Given the description of an element on the screen output the (x, y) to click on. 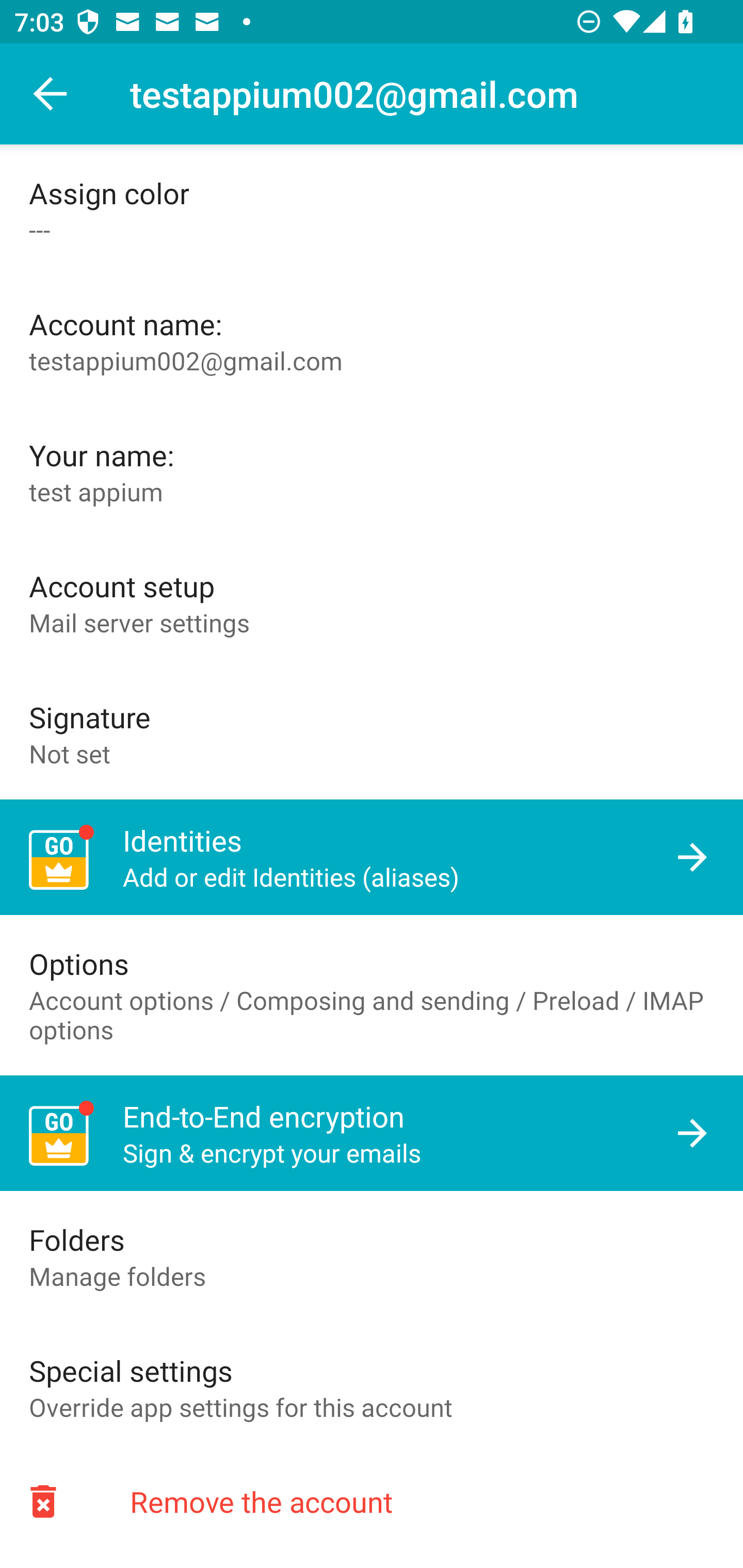
Navigate up (50, 93)
Assign color --- (371, 209)
Account name: testappium002@gmail.com (371, 340)
Your name: test appium (371, 471)
Account setup Mail server settings (371, 602)
Signature Not set (371, 733)
Identities Add or edit Identities (aliases) (371, 857)
End-to-End encryption Sign & encrypt your emails (371, 1133)
Folders Manage folders (371, 1256)
Remove the account (371, 1501)
